Given the description of an element on the screen output the (x, y) to click on. 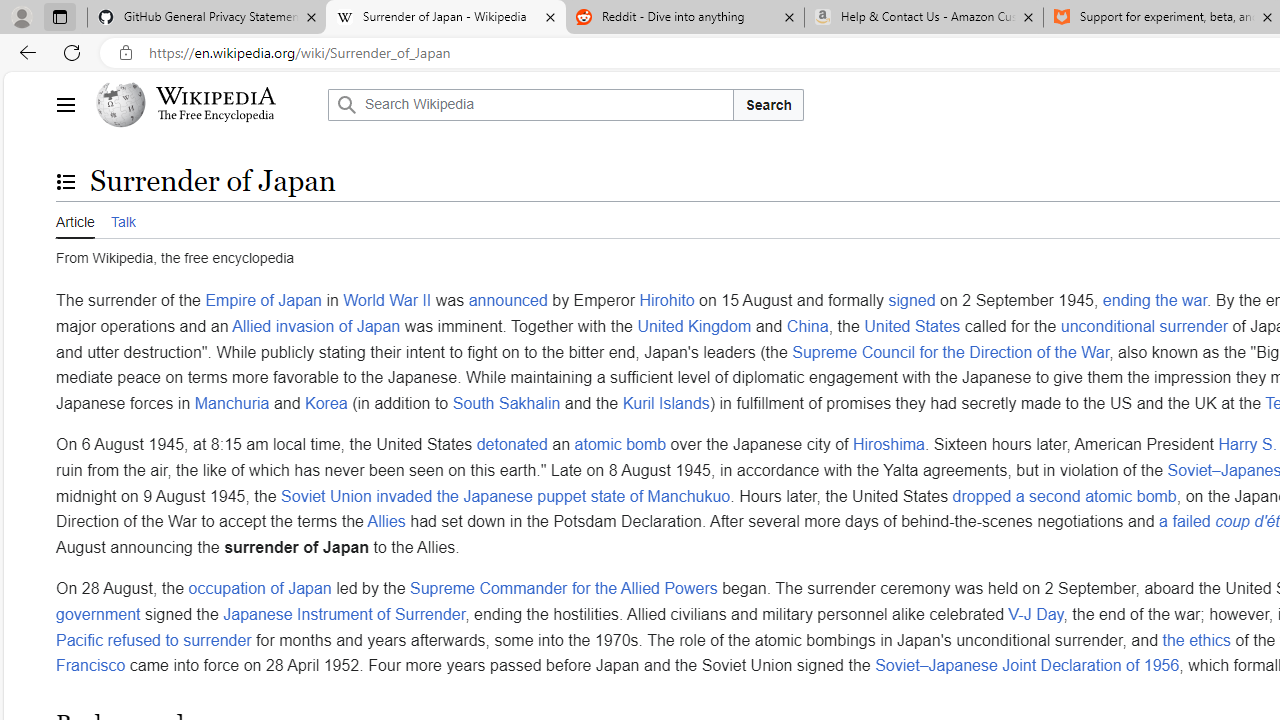
Supreme Commander for the Allied Powers (563, 589)
United Kingdom (694, 325)
signed (911, 301)
The Free Encyclopedia (216, 116)
Article (75, 219)
Allied invasion of Japan (315, 325)
Hiroshima (888, 445)
South Sakhalin (505, 402)
Hirohito (666, 301)
occupation of Japan (259, 589)
Soviet Union invaded the Japanese puppet state of Manchukuo (505, 495)
